Given the description of an element on the screen output the (x, y) to click on. 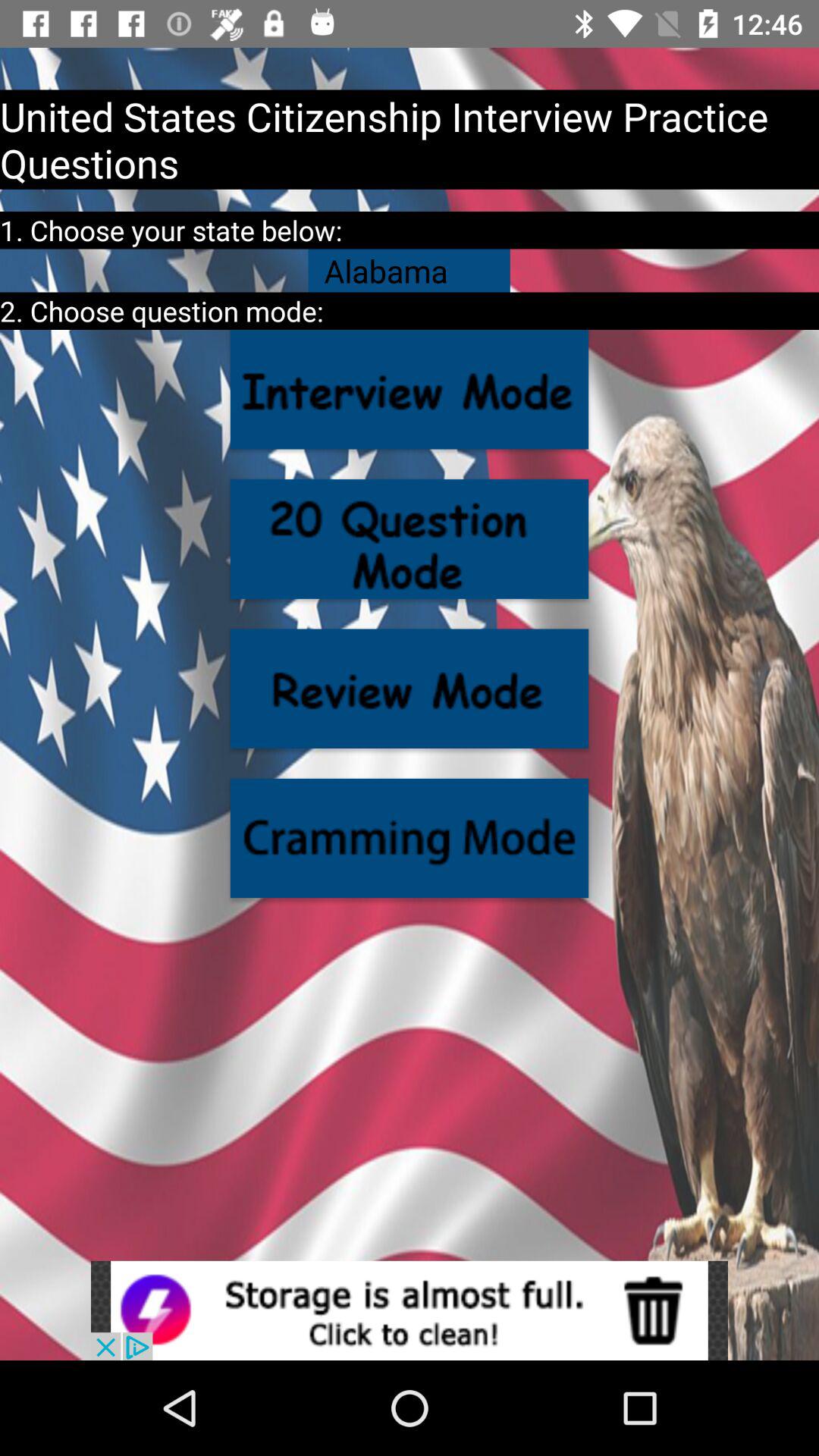
toggle mode (409, 389)
